Given the description of an element on the screen output the (x, y) to click on. 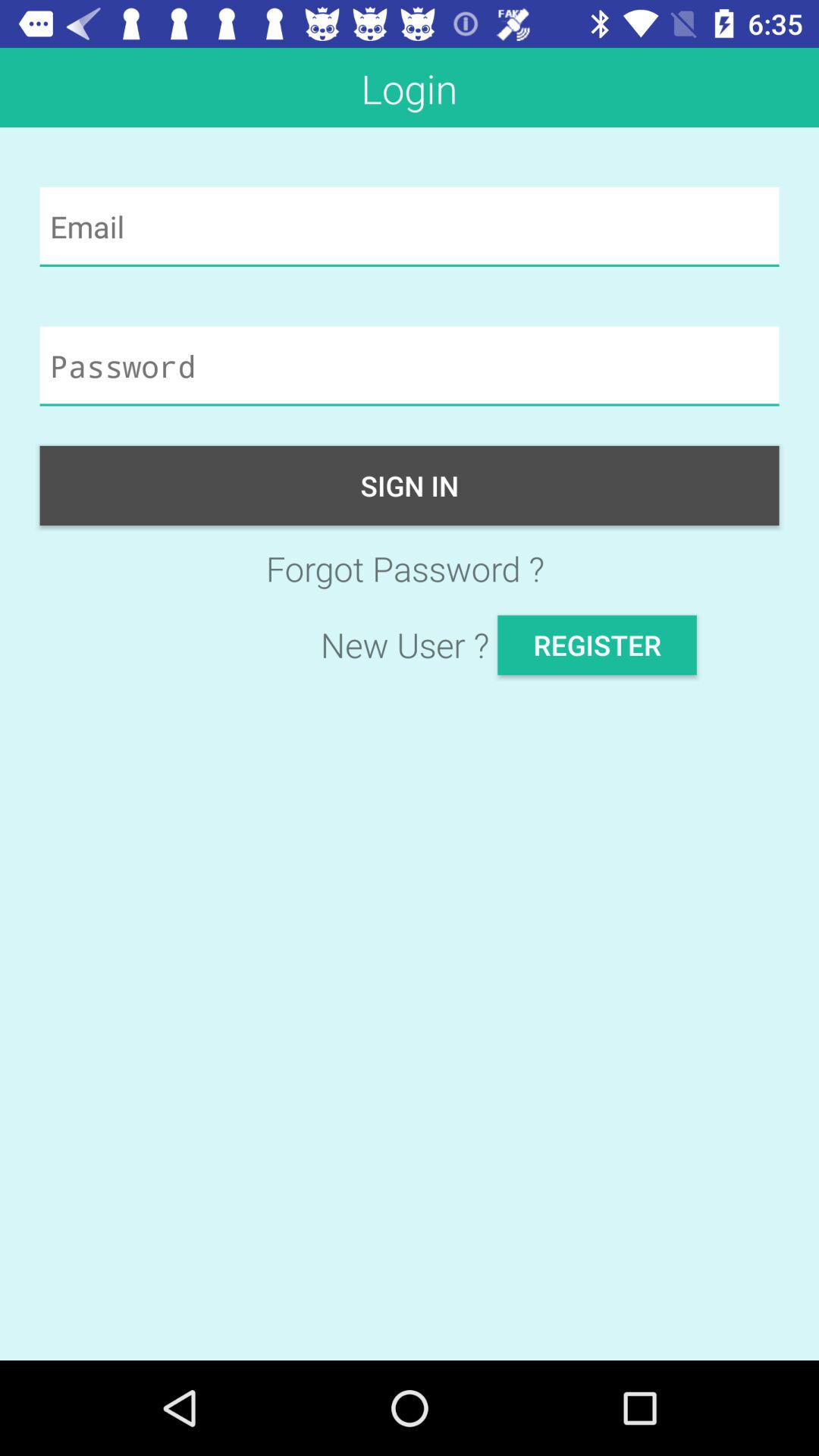
select icon on the right (596, 645)
